Given the description of an element on the screen output the (x, y) to click on. 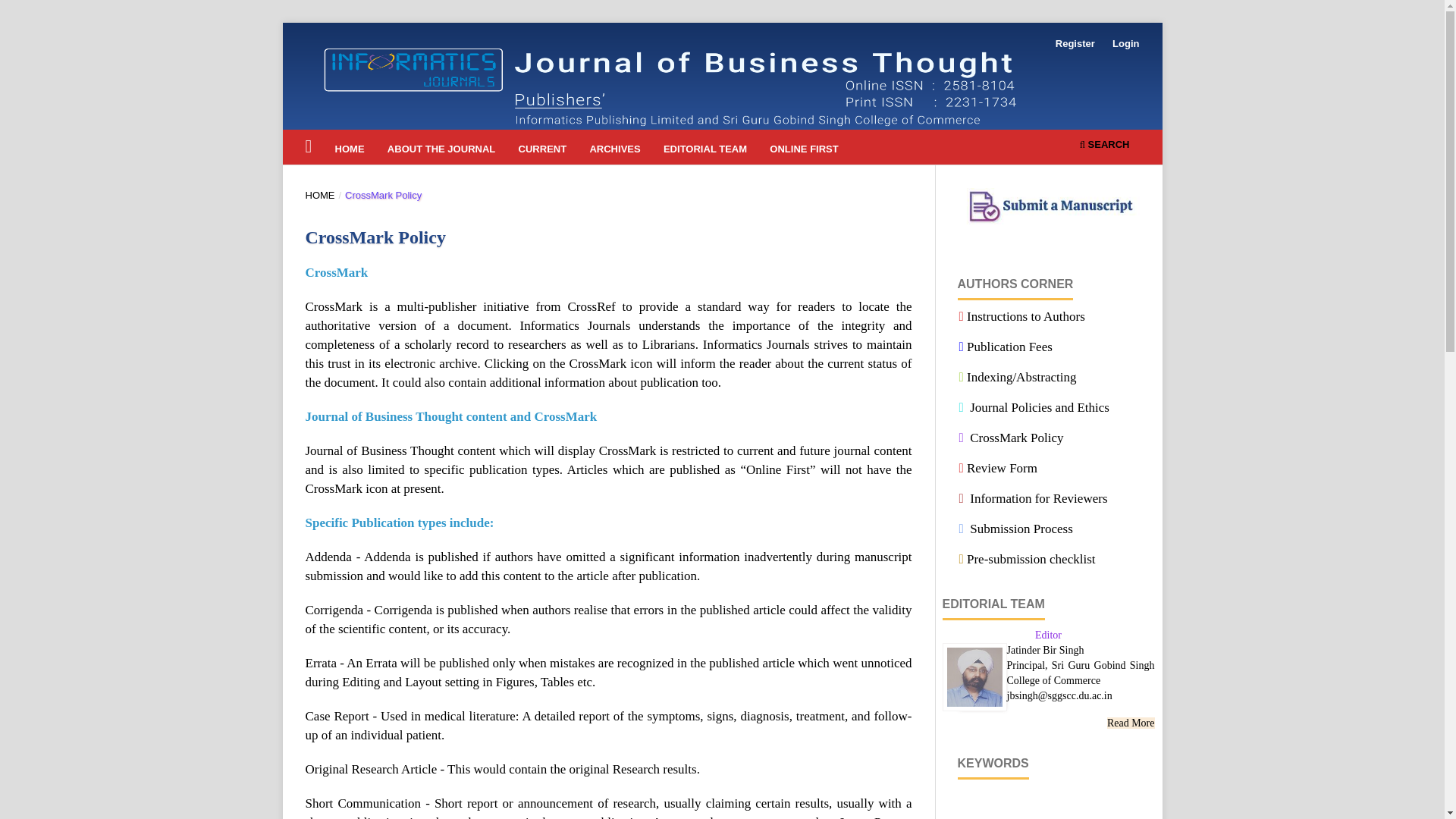
 CrossMark Policy (1010, 437)
 Submission Process (1014, 528)
ARCHIVES (615, 151)
ONLINE FIRST (804, 151)
 Instructions to Authors (1021, 316)
 Information for Reviewers (1032, 498)
 Publication Fees (1004, 346)
HOME (349, 151)
 Pre-submission checklist (1026, 559)
Register (1075, 43)
